Given the description of an element on the screen output the (x, y) to click on. 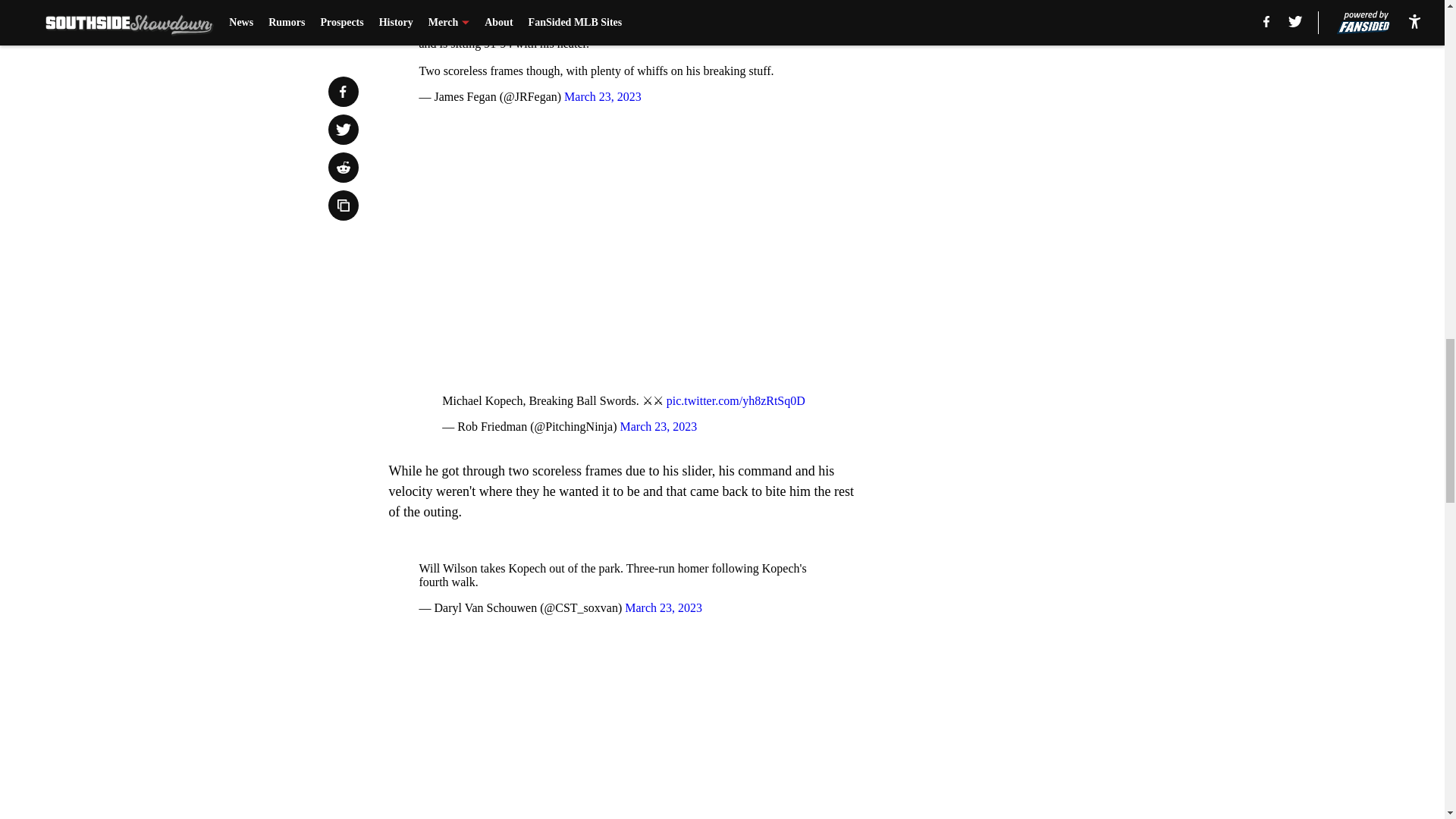
March 23, 2023 (603, 96)
March 23, 2023 (658, 426)
March 23, 2023 (662, 607)
